Given the description of an element on the screen output the (x, y) to click on. 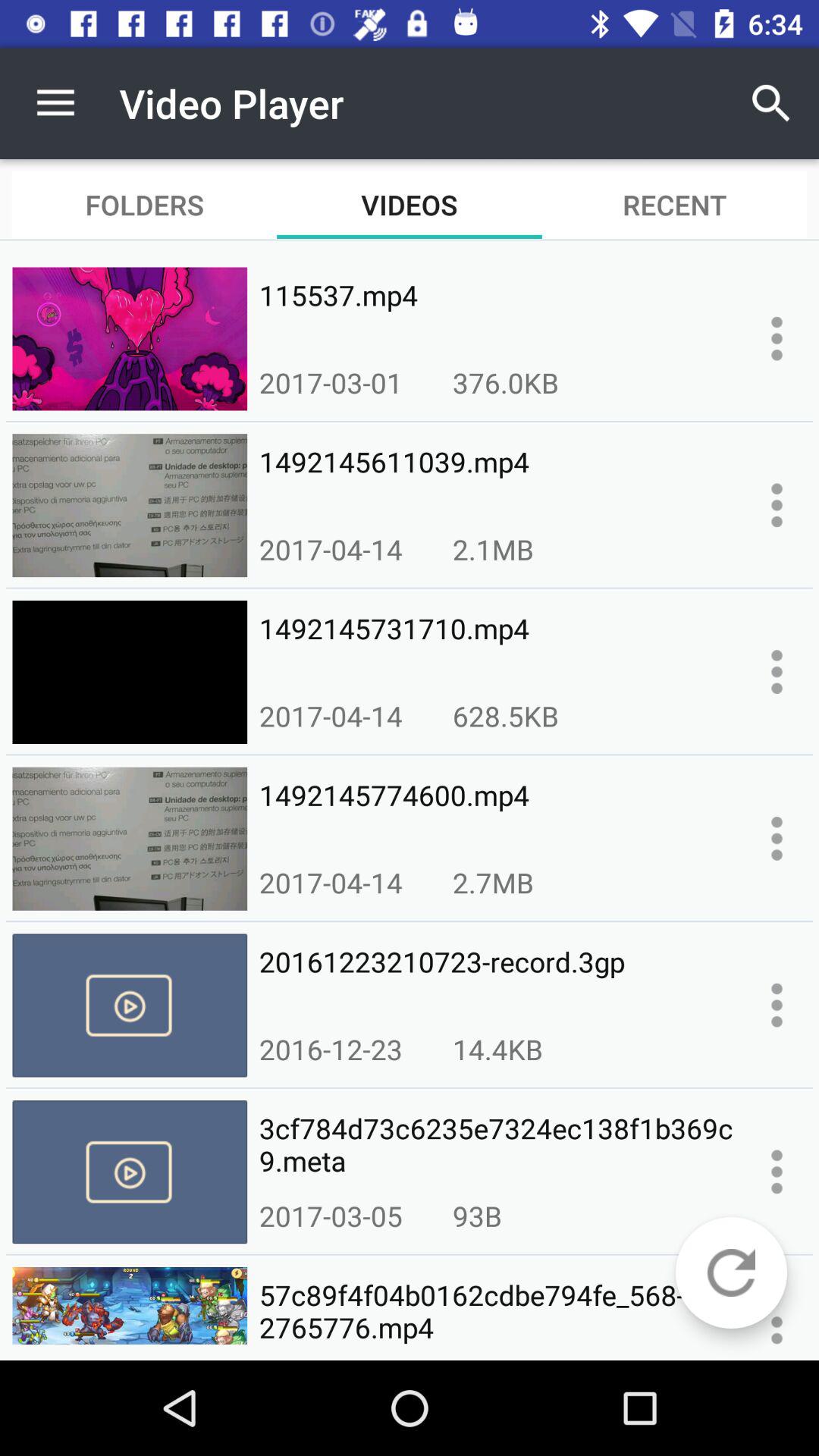
swipe until 20161223210723-record.3gp icon (496, 978)
